Given the description of an element on the screen output the (x, y) to click on. 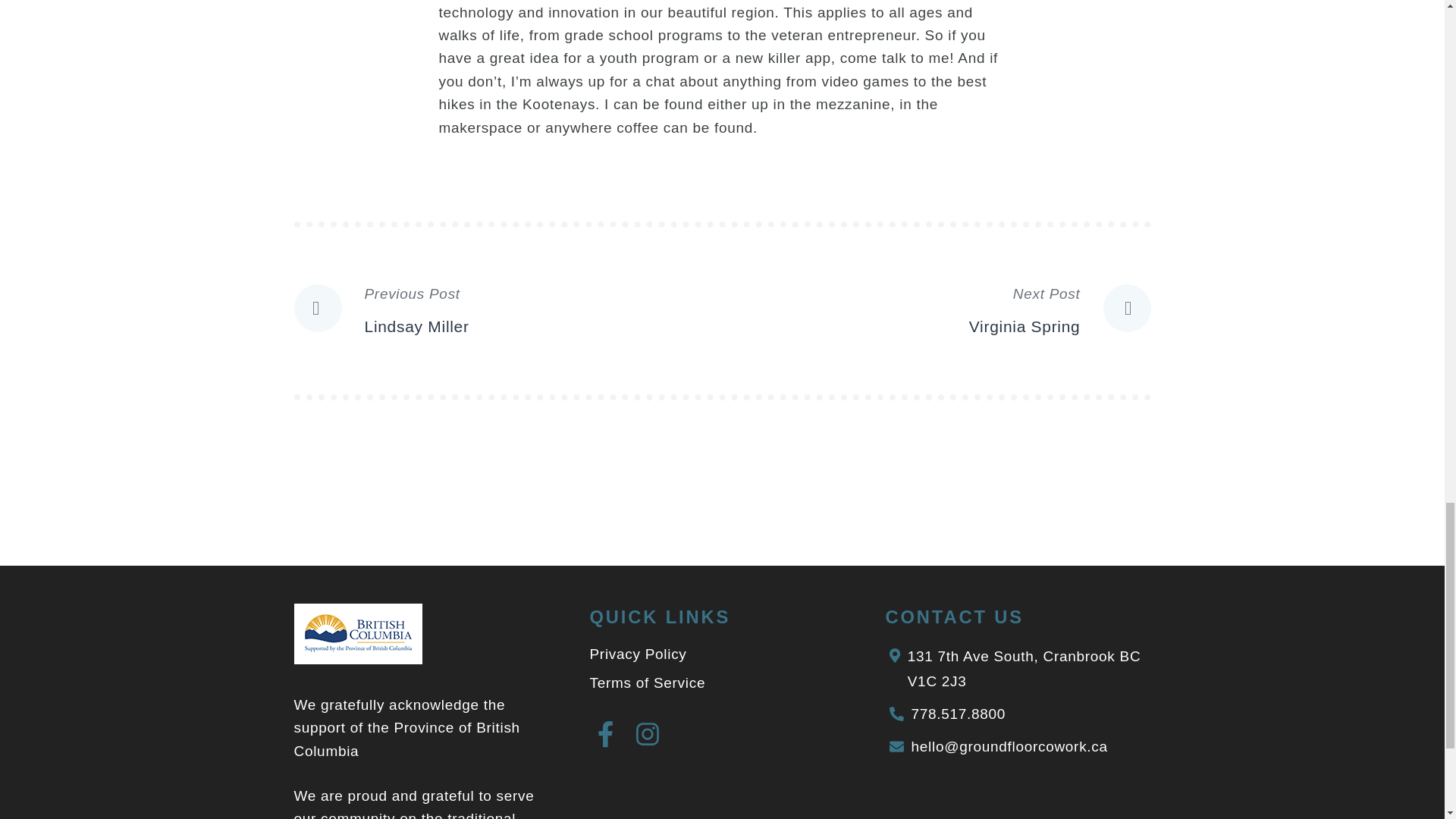
Privacy Policy (638, 653)
Terms of Service (508, 310)
